Given the description of an element on the screen output the (x, y) to click on. 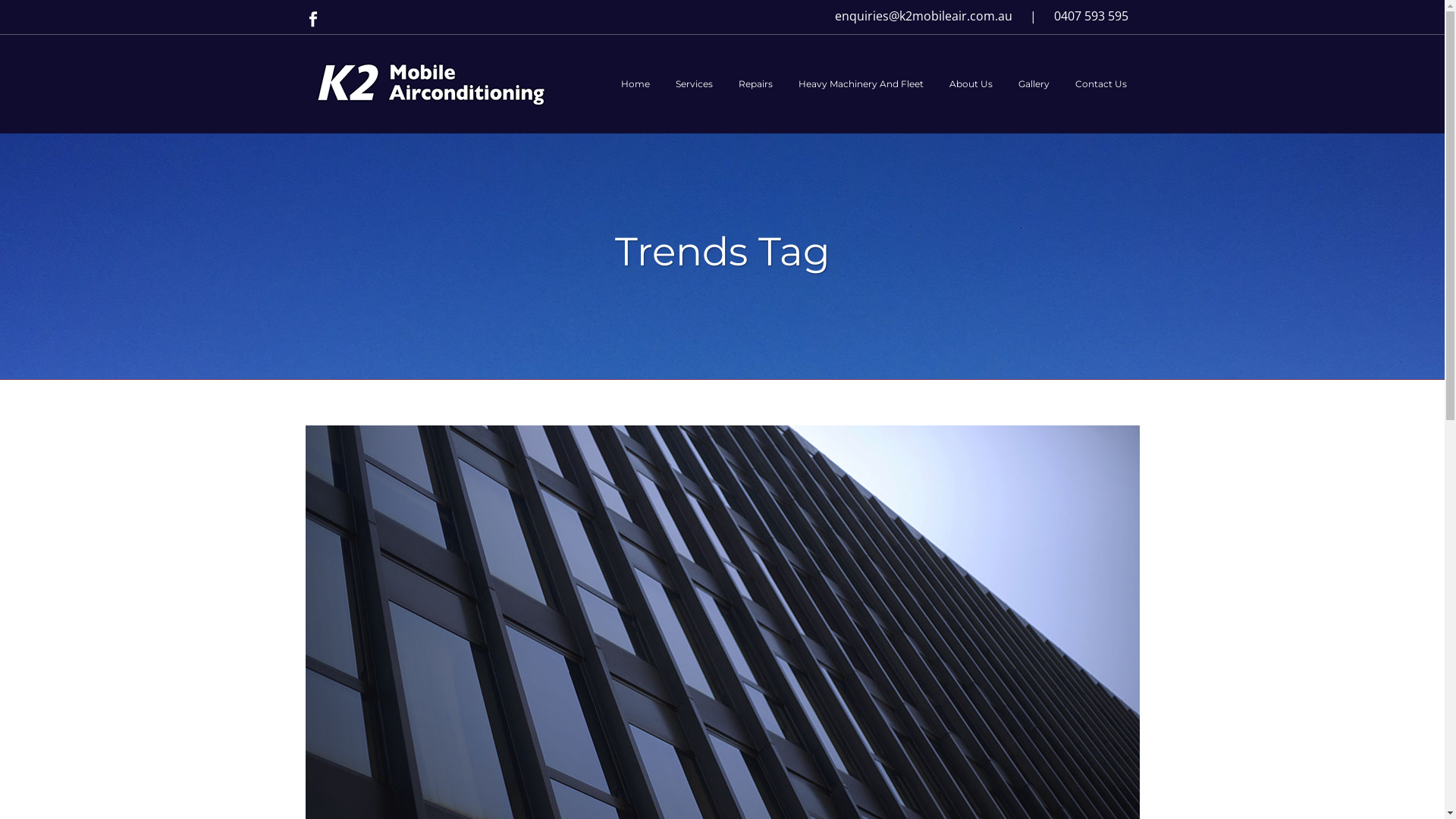
Repairs Element type: text (754, 83)
enquiries@k2mobileair.com.au Element type: text (922, 15)
0407 593 595 Element type: text (1091, 15)
Services Element type: text (693, 83)
About Us Element type: text (969, 83)
Contact Us Element type: text (1100, 83)
Home Element type: text (635, 83)
Gallery Element type: text (1033, 83)
Heavy Machinery And Fleet Element type: text (860, 83)
